Given the description of an element on the screen output the (x, y) to click on. 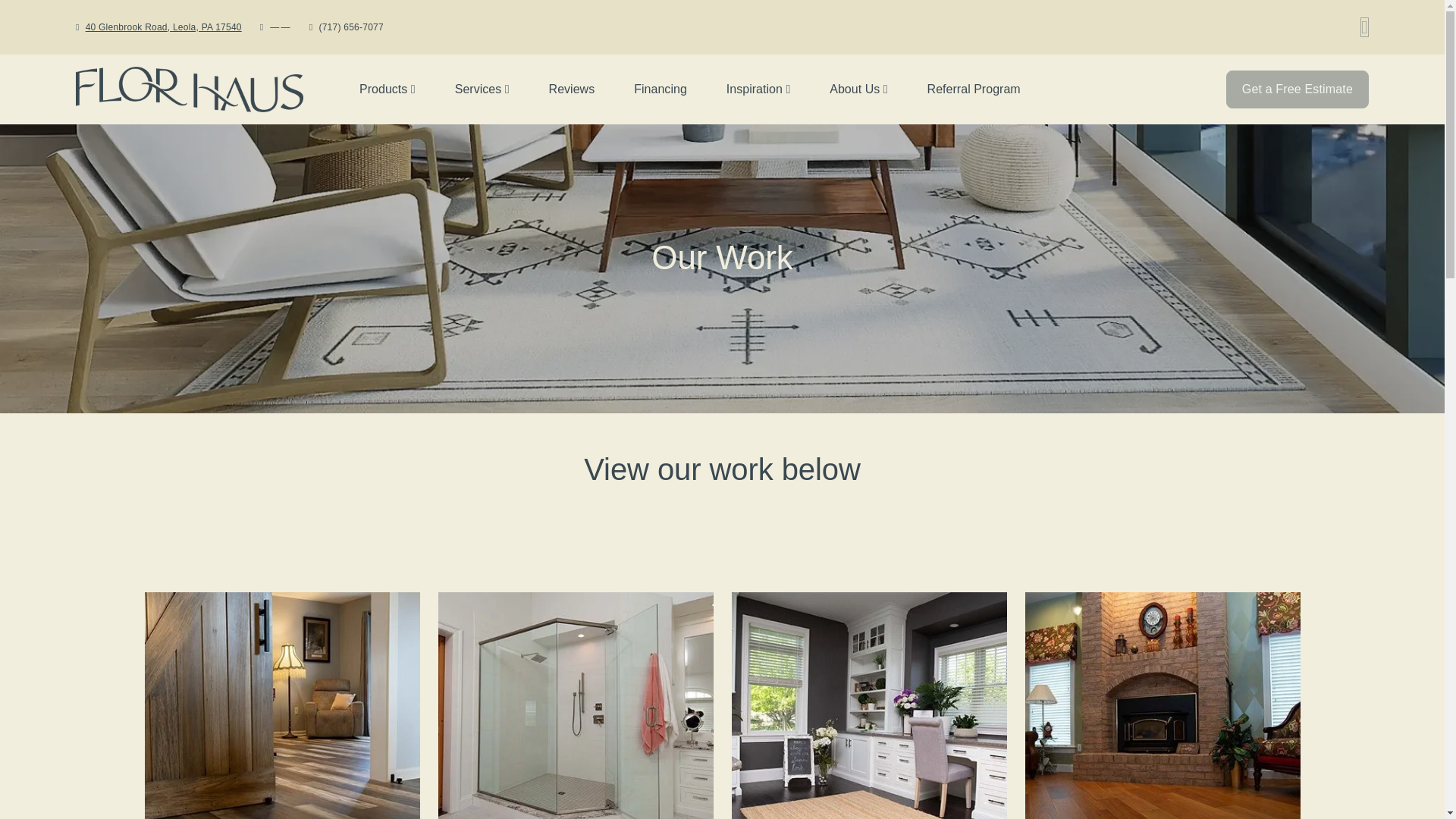
Products (387, 88)
40 Glenbrook Road, Leola, PA 17540 (163, 27)
